Given the description of an element on the screen output the (x, y) to click on. 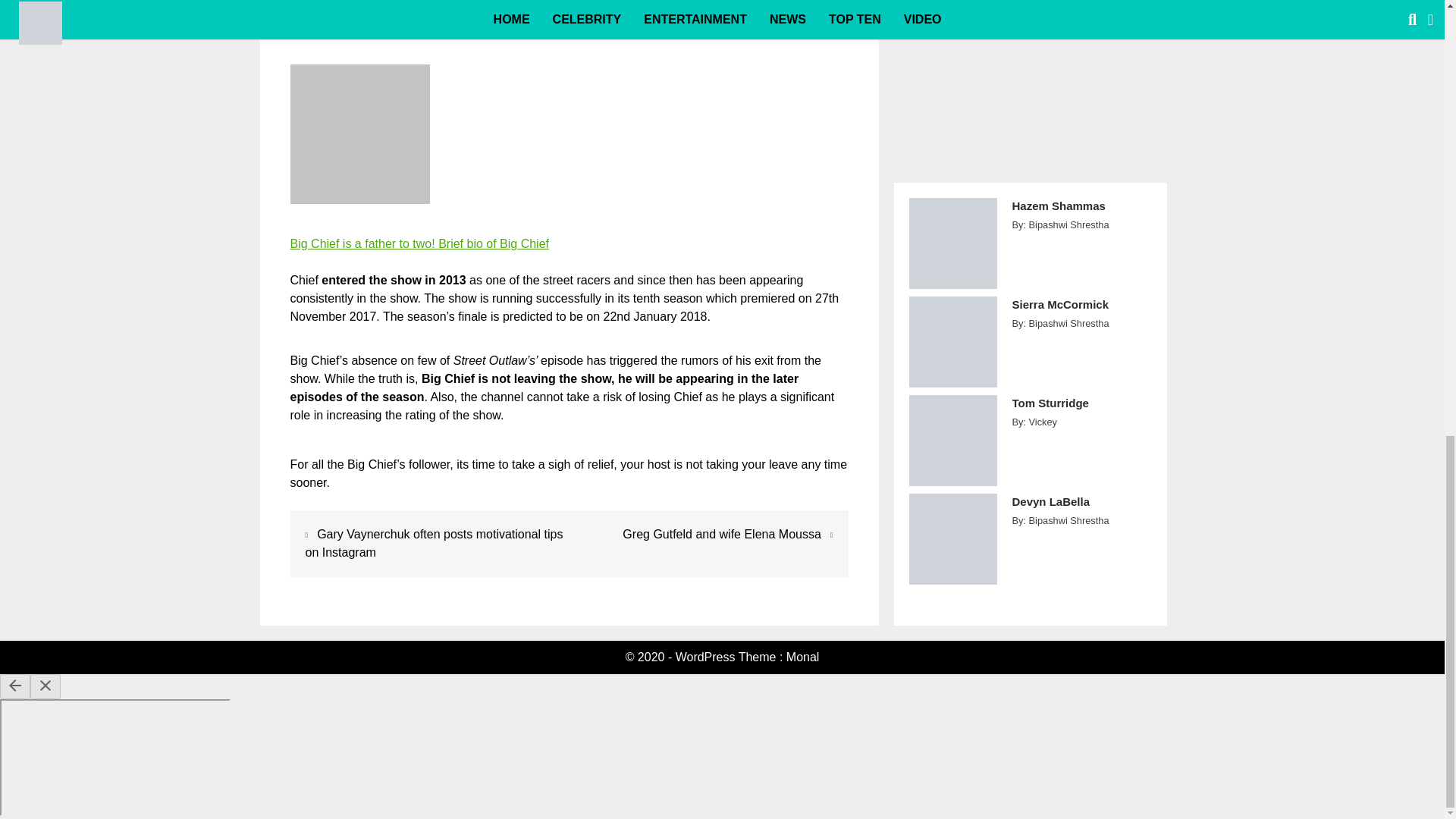
Greg Gutfeld and wife Elena Moussa (722, 533)
Big Chief is a father to two! Brief bio of Big Chief (418, 243)
Big Chief (418, 243)
Big Chief is the star of Street Outlwas (359, 133)
Gary Vaynerchuk often posts motivational tips on Instagram (433, 542)
